Given the description of an element on the screen output the (x, y) to click on. 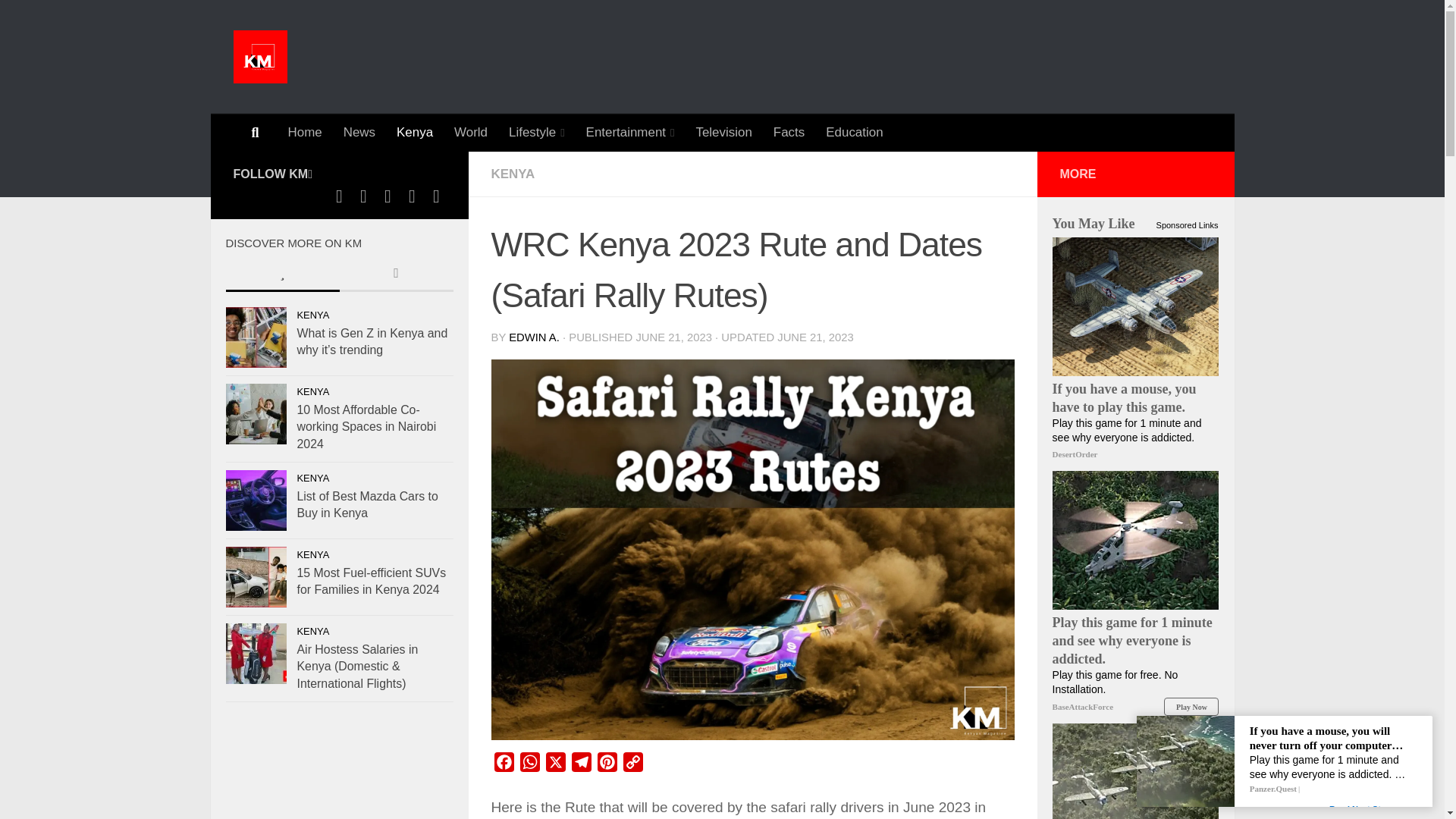
Facebook (504, 765)
Education (854, 132)
Telegram (581, 765)
Copy Link (633, 765)
Pinterest (607, 765)
Lifestyle (536, 132)
Facts (788, 132)
EDWIN A. (533, 337)
Copy Link (633, 765)
Pinterest (607, 765)
Television (722, 132)
KENYA (513, 173)
World (470, 132)
WhatsApp (529, 765)
News (359, 132)
